Given the description of an element on the screen output the (x, y) to click on. 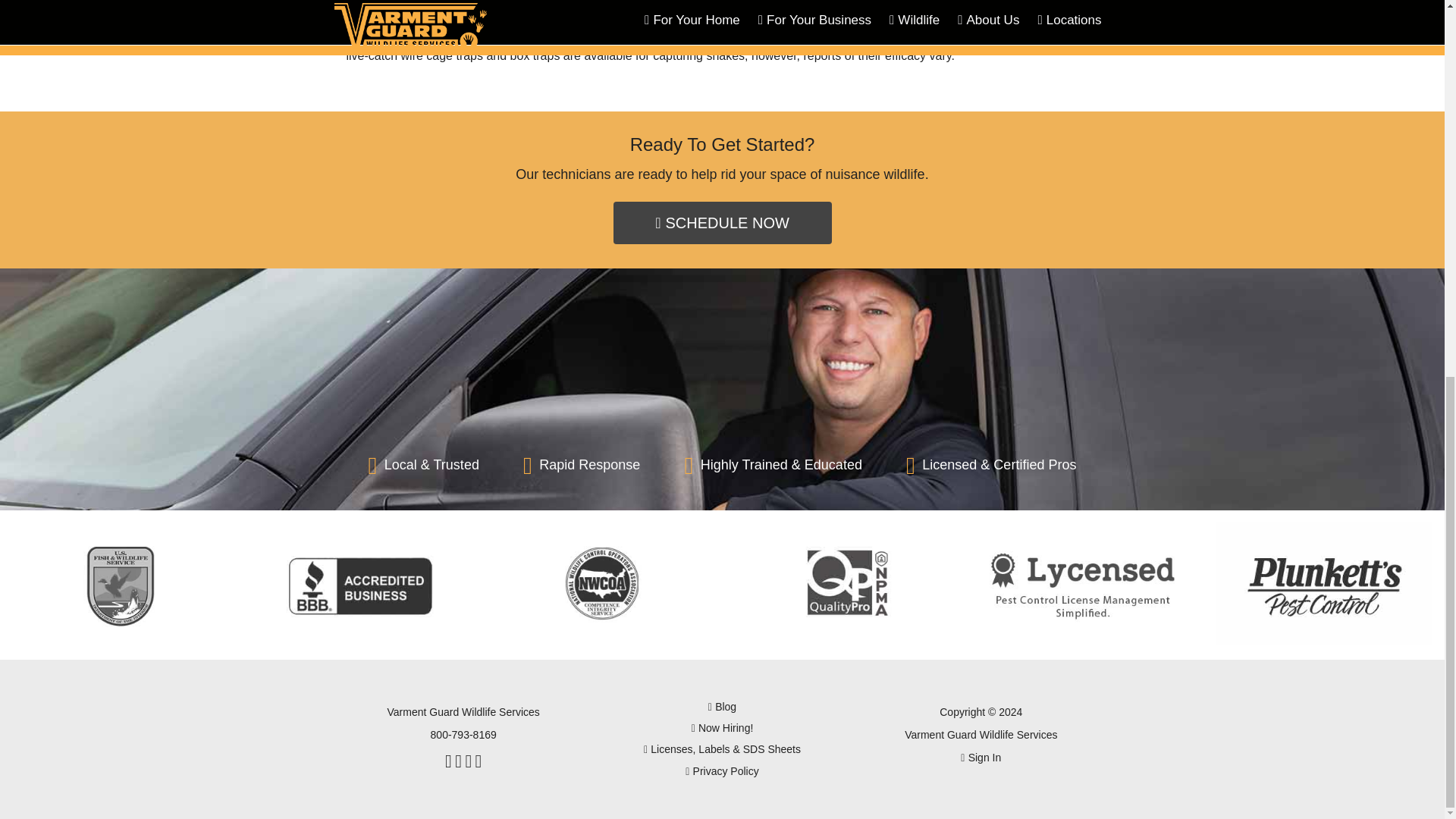
Privacy Policy (721, 771)
Varment Guard Wildlife Services (980, 734)
Blog (721, 706)
Now Hiring! (721, 727)
SCHEDULE NOW (721, 222)
Sign In (980, 757)
800-793-8169 (463, 734)
Rapid Response (581, 466)
Schedule Now (145, 123)
